Given the description of an element on the screen output the (x, y) to click on. 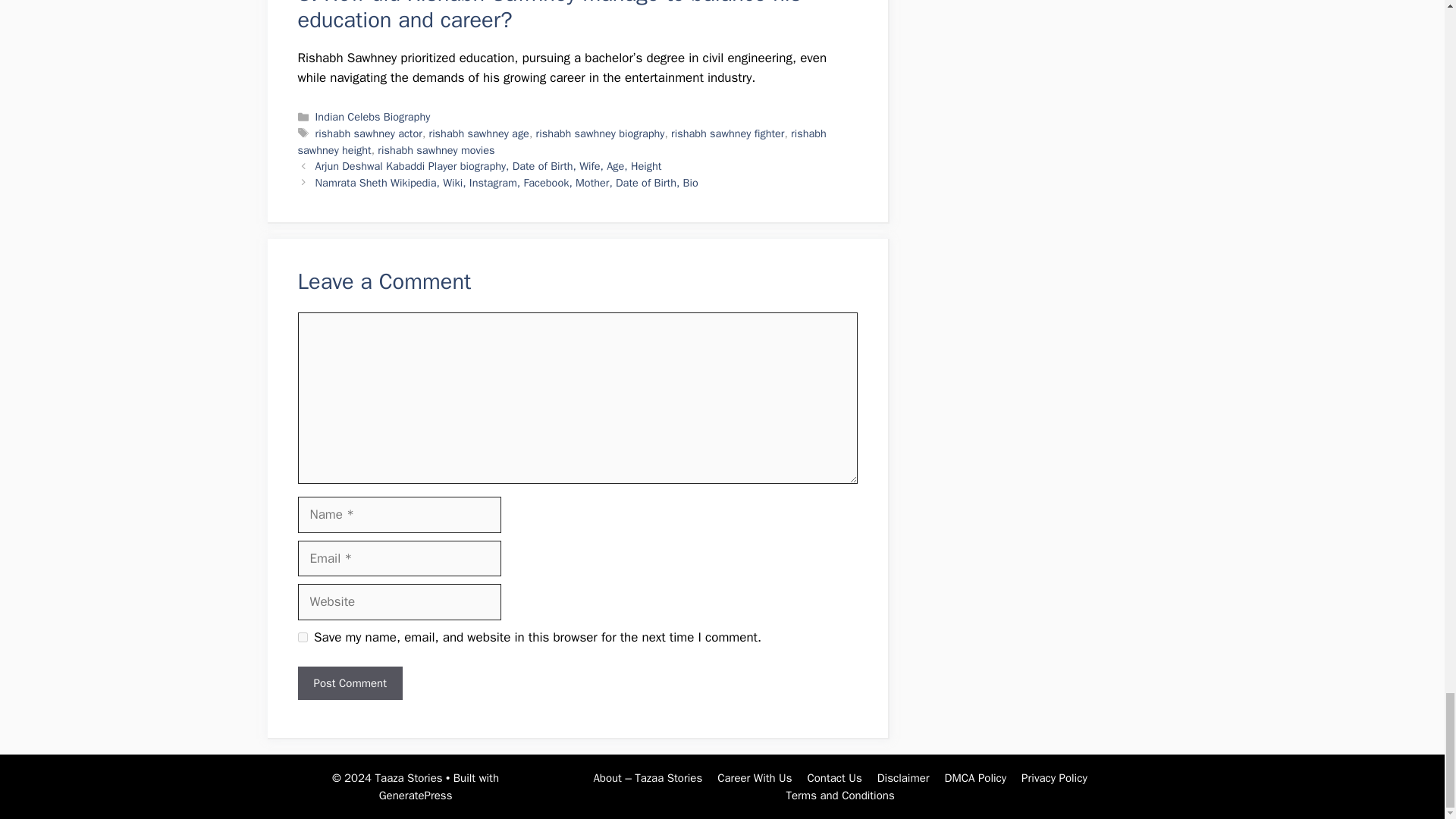
yes (302, 637)
Indian Celebs Biography (372, 116)
rishabh sawhney actor (368, 133)
rishabh sawhney age (479, 133)
Post Comment (349, 683)
